Given the description of an element on the screen output the (x, y) to click on. 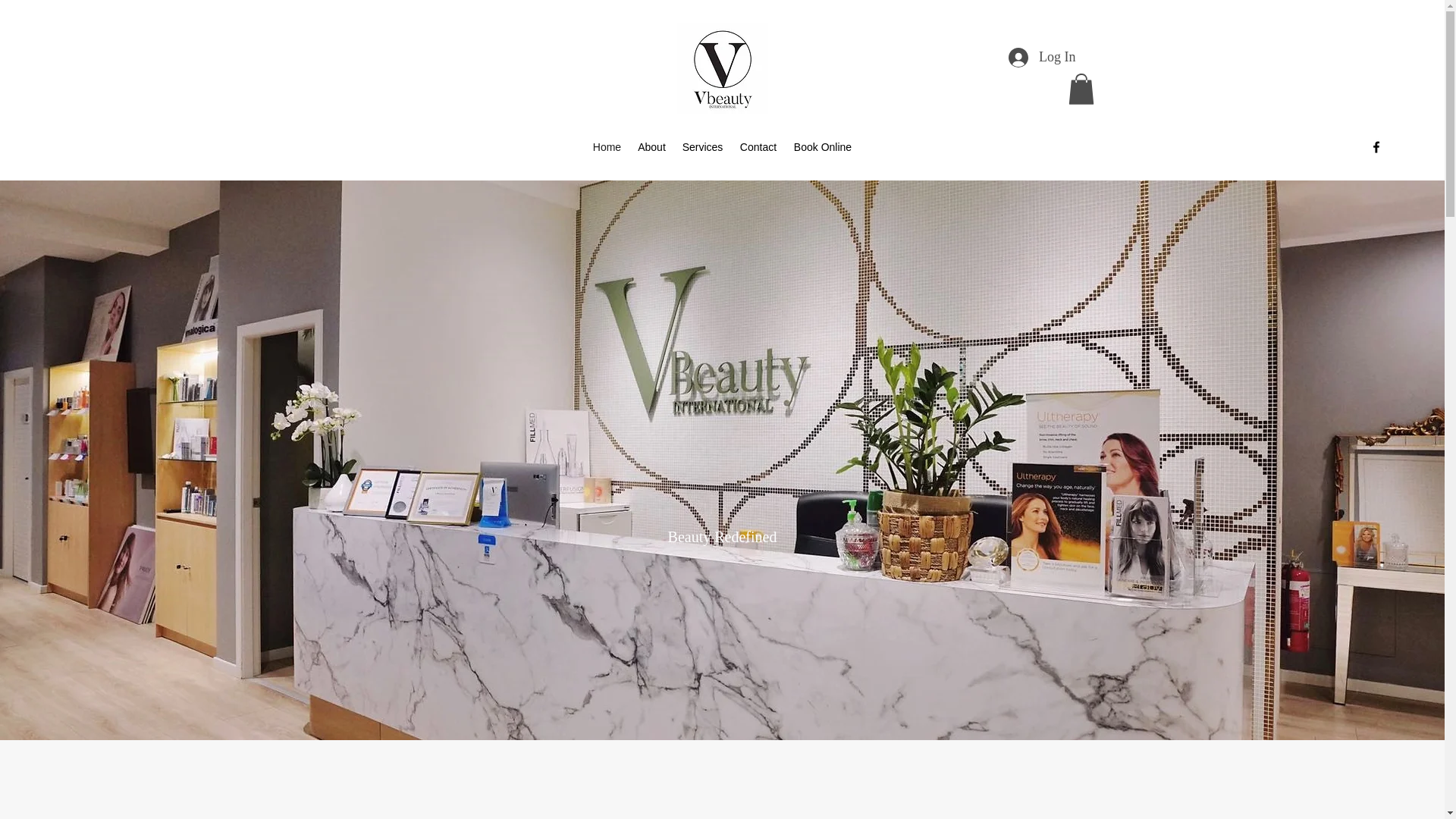
Book Online (823, 146)
Home (606, 146)
Log In (1041, 57)
Services (702, 146)
About (651, 146)
Contact (758, 146)
